Given the description of an element on the screen output the (x, y) to click on. 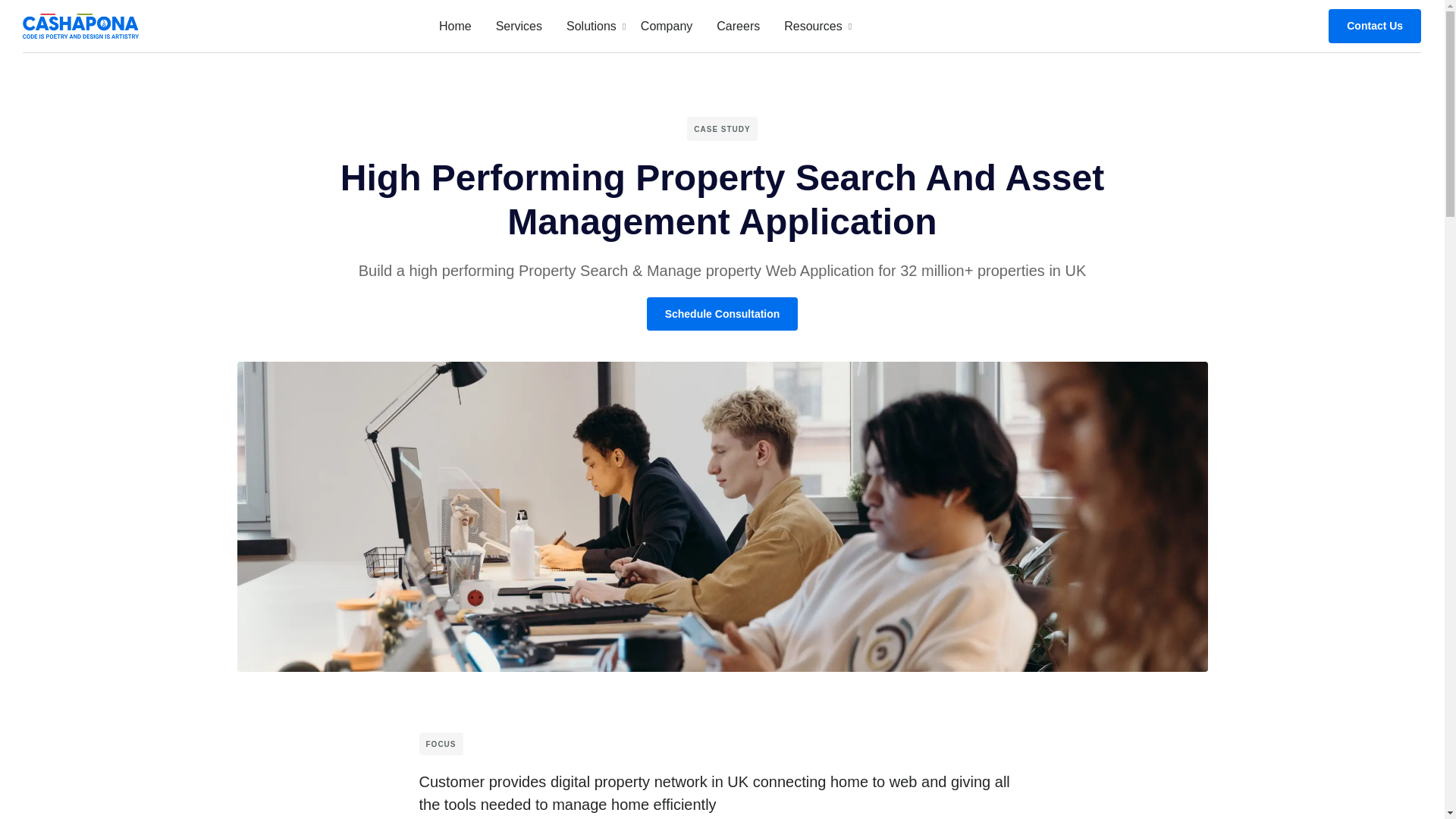
Resources (812, 26)
Contact Us (1374, 26)
Services (519, 26)
Careers (737, 26)
Company (641, 26)
Home (666, 26)
Solutions (455, 26)
